Given the description of an element on the screen output the (x, y) to click on. 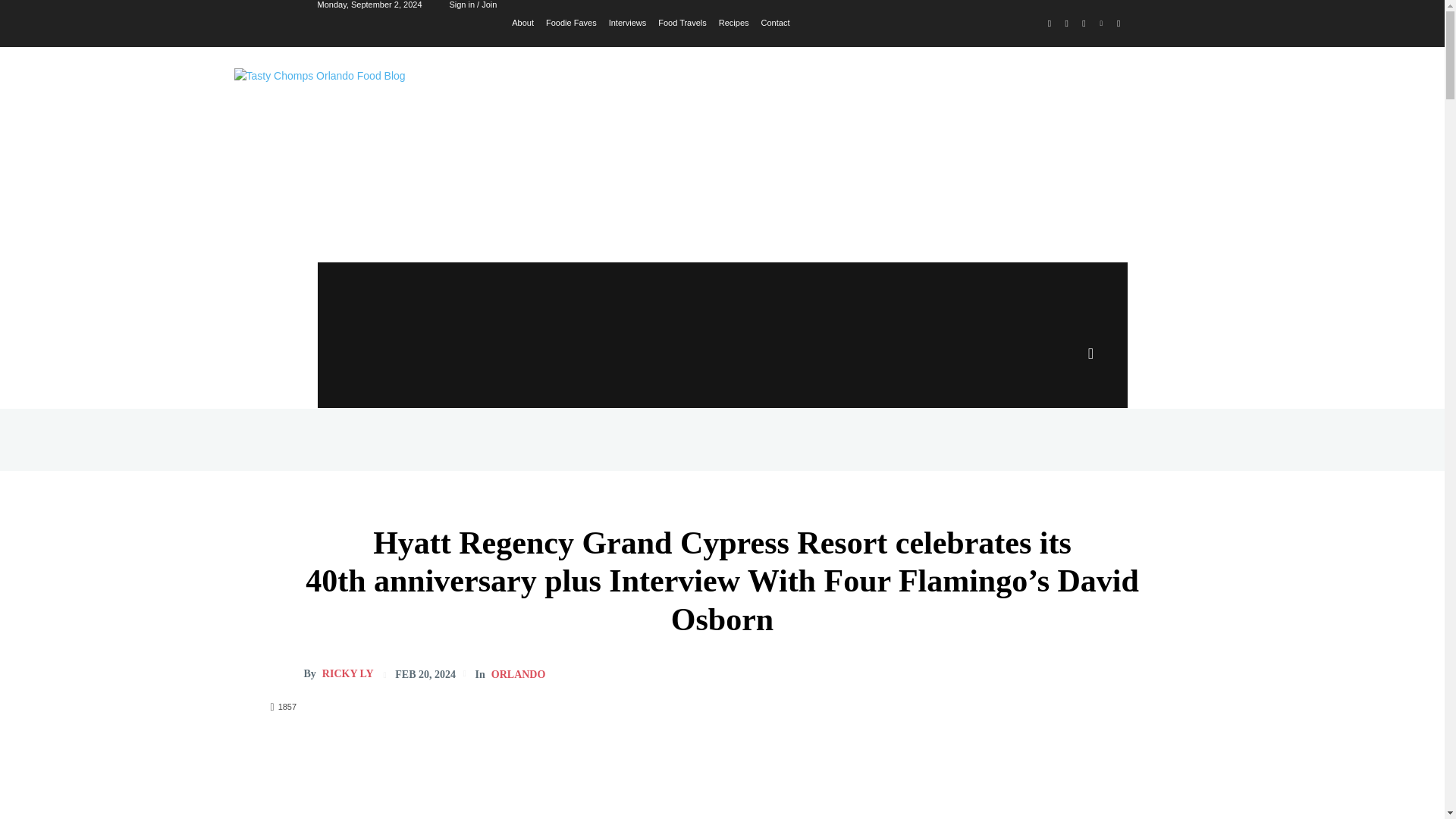
Vimeo (1101, 23)
Food Travels (682, 22)
Facebook (1049, 23)
Foodie Faves (571, 22)
Contact (775, 22)
Tasty Chomps Orlando Food Blog (439, 135)
Tasty Chomps Orlando Food Blog (439, 135)
Youtube (1117, 23)
Recipes (734, 22)
About (523, 22)
